Given the description of an element on the screen output the (x, y) to click on. 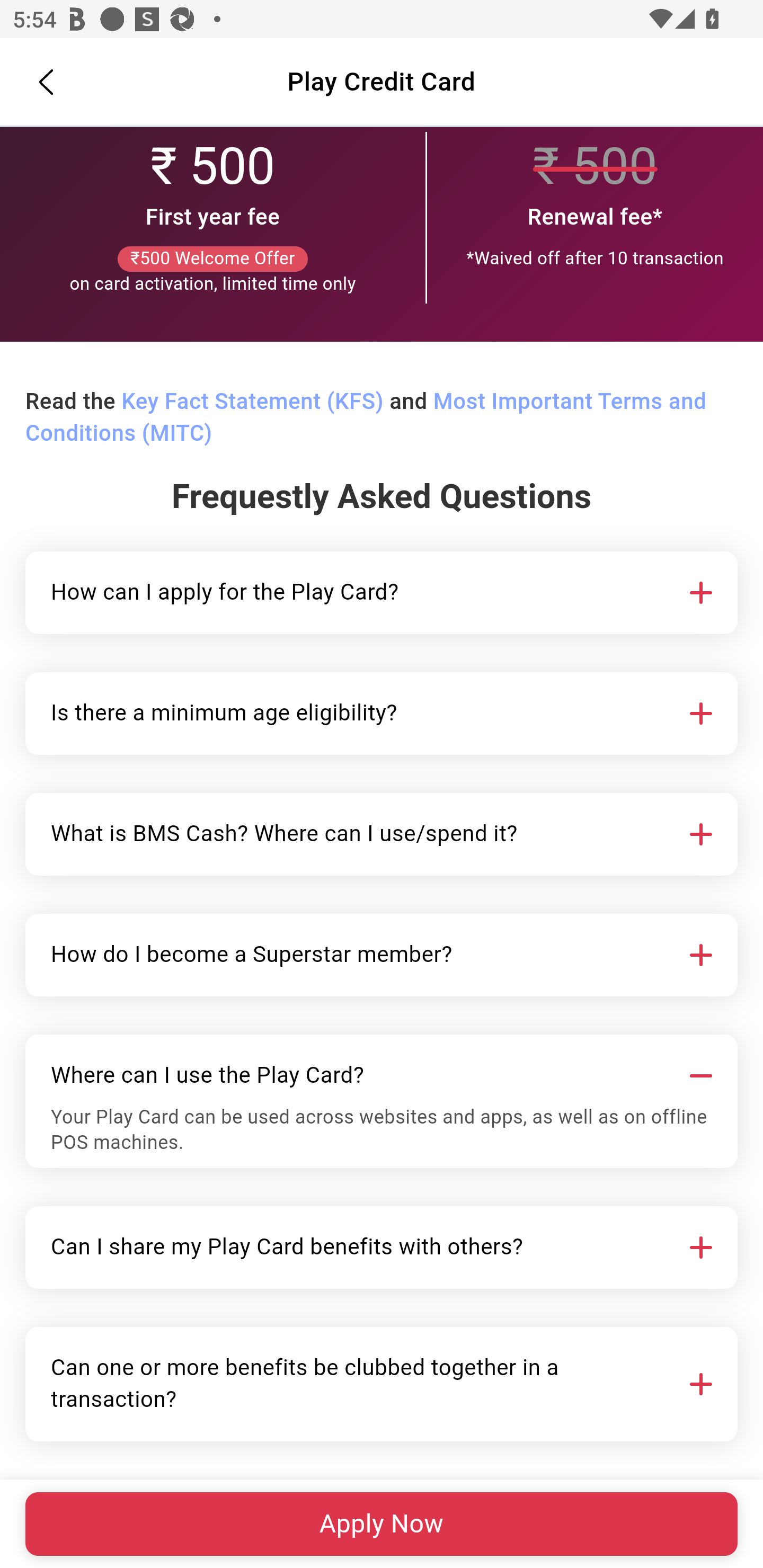
Most Important Terms and Conditions (MITC) (366, 418)
Key Fact Statement (KFS) (252, 402)
